Given the description of an element on the screen output the (x, y) to click on. 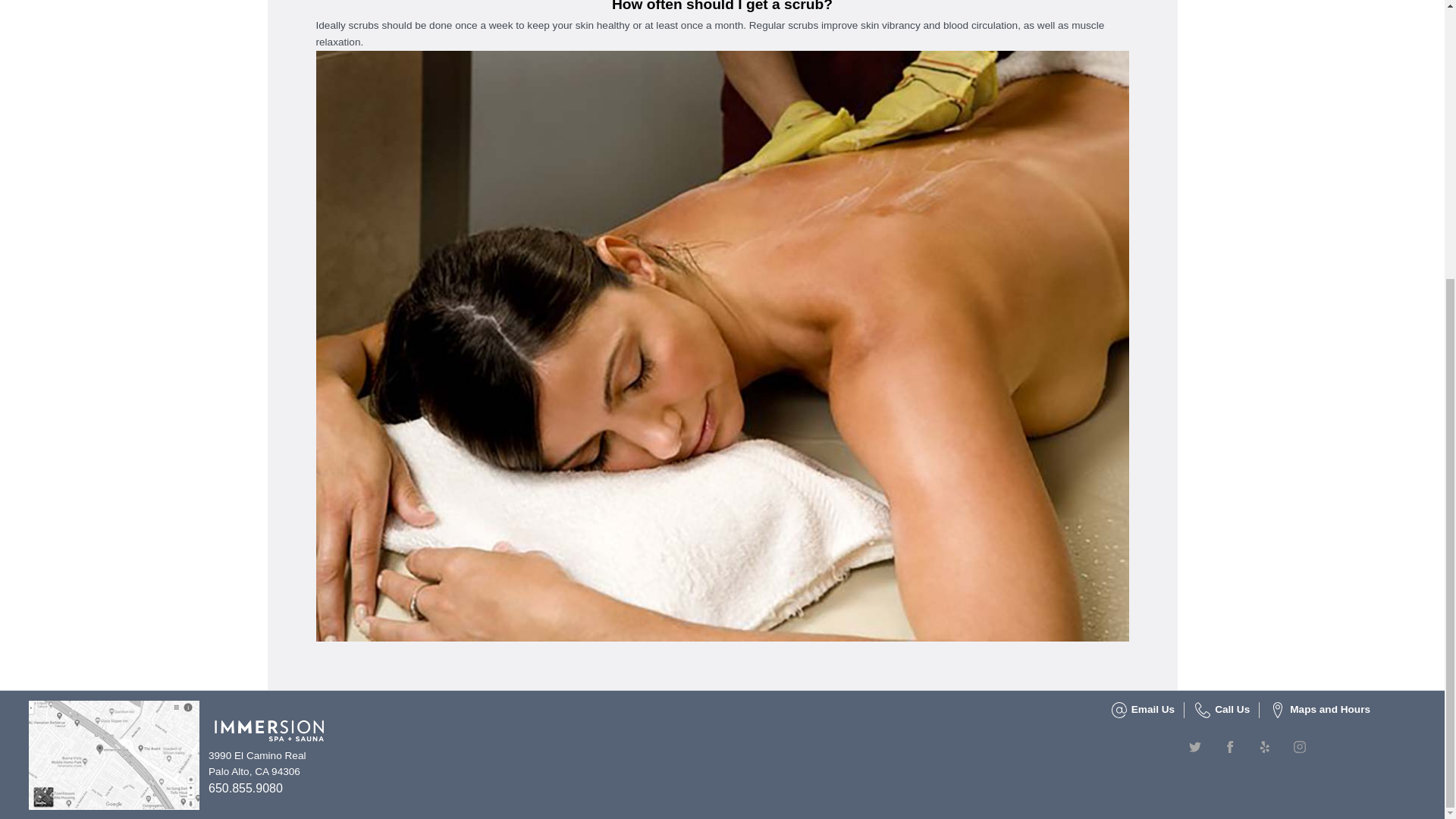
Call Us (1229, 709)
Email Us (1150, 709)
Maps and Hours (1326, 709)
650.855.9080 (245, 788)
